Given the description of an element on the screen output the (x, y) to click on. 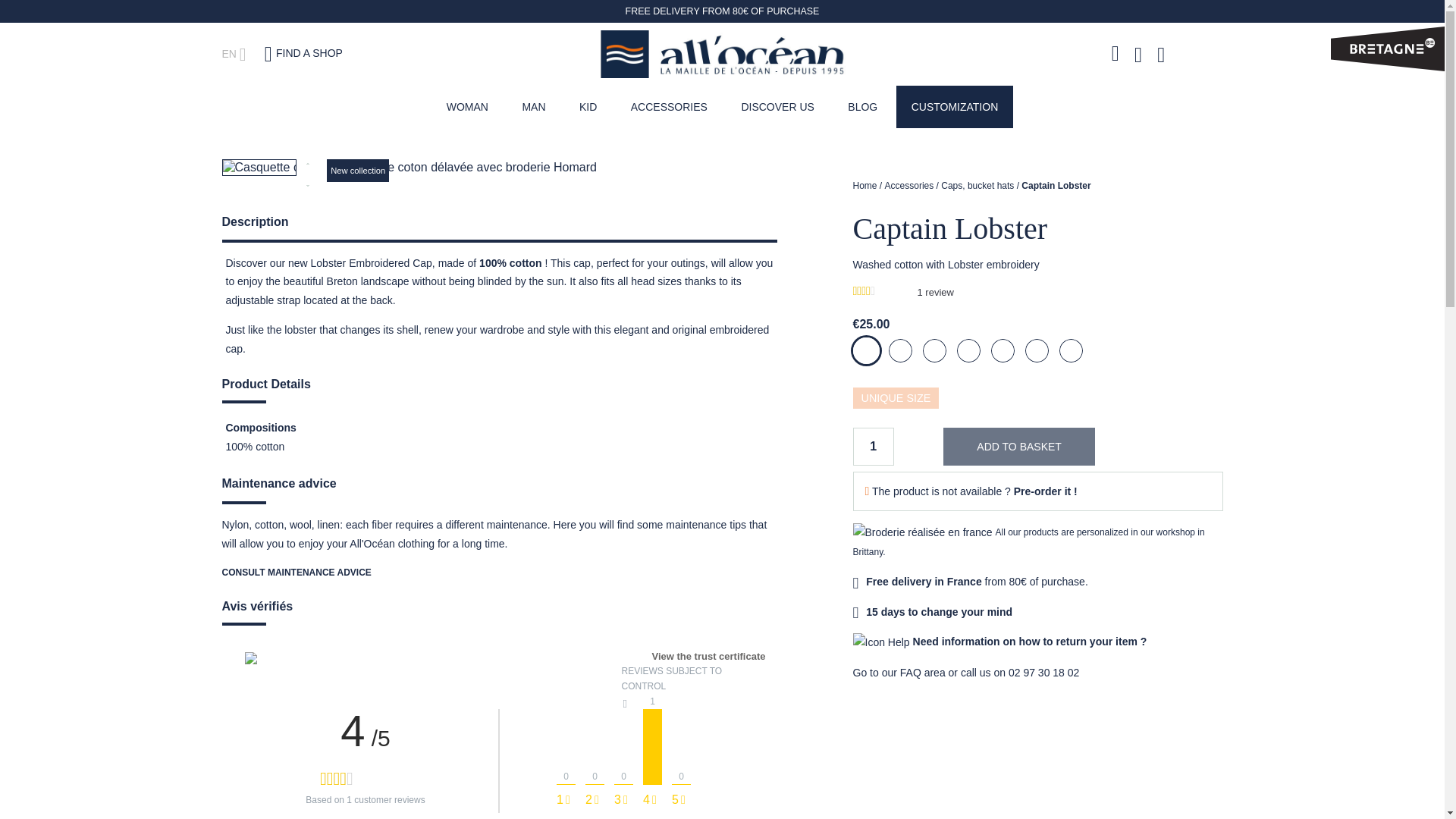
MAN (533, 106)
Woman (466, 106)
1 (872, 446)
FIND A SHOP (303, 52)
Basket (1164, 53)
WOMAN (466, 106)
Our shop (303, 52)
